Given the description of an element on the screen output the (x, y) to click on. 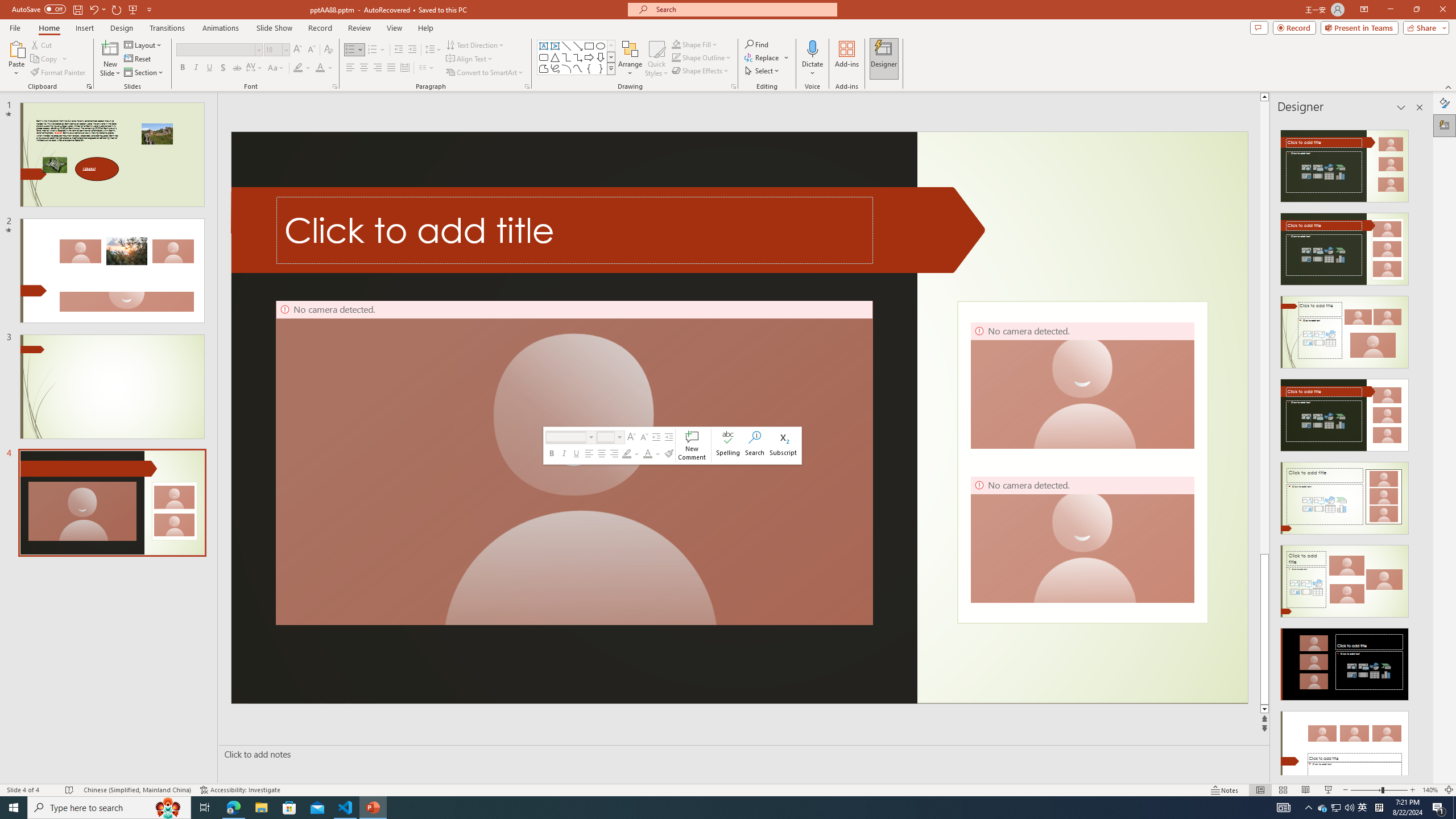
Text Box (543, 45)
Zoom Out (1366, 790)
Isosceles Triangle (554, 57)
Row up (611, 45)
Collapse the Ribbon (1448, 86)
Italic (195, 67)
Designer (1444, 125)
Paste (16, 58)
Text Highlight Color (302, 67)
Design Idea (1344, 743)
Justify (390, 67)
Normal (1260, 790)
Shape Outline (701, 56)
Minimize (1390, 9)
Home (48, 28)
